Given the description of an element on the screen output the (x, y) to click on. 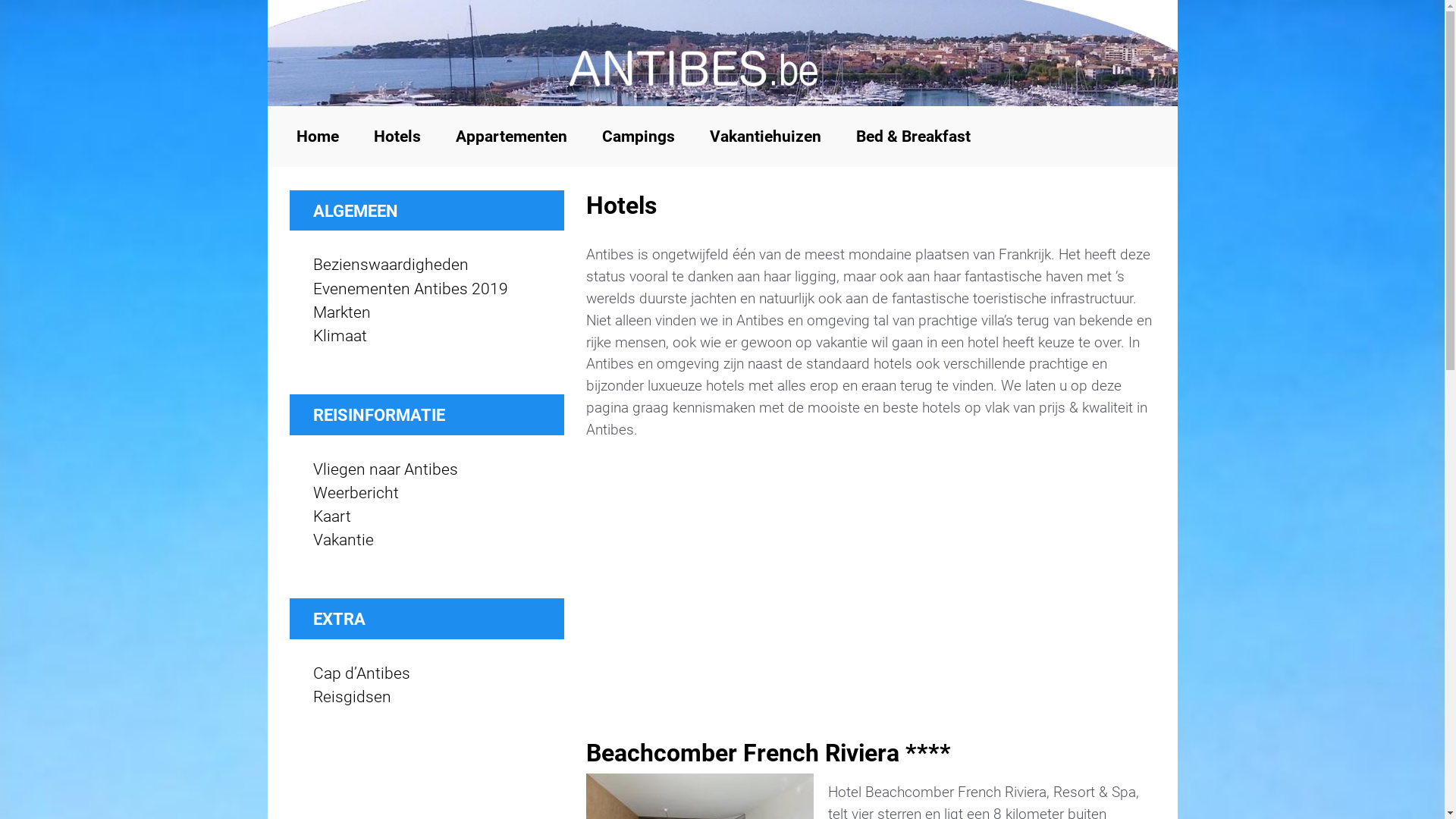
Campings Element type: text (638, 136)
Vliegen naar Antibes Element type: text (384, 469)
Reisgidsen Element type: text (351, 696)
Evenementen Antibes 2019 Element type: text (409, 288)
Advertisement Element type: hover (869, 580)
Bed & Breakfast Element type: text (912, 136)
Home Element type: text (316, 136)
Vakantie Element type: text (342, 539)
Kaart Element type: text (331, 516)
Hotels Element type: text (396, 136)
Klimaat Element type: text (339, 335)
Vakantiehuizen Element type: text (765, 136)
Bezienswaardigheden Element type: text (389, 264)
Markten Element type: text (341, 312)
Appartementen Element type: text (510, 136)
Weerbericht Element type: text (355, 492)
